Given the description of an element on the screen output the (x, y) to click on. 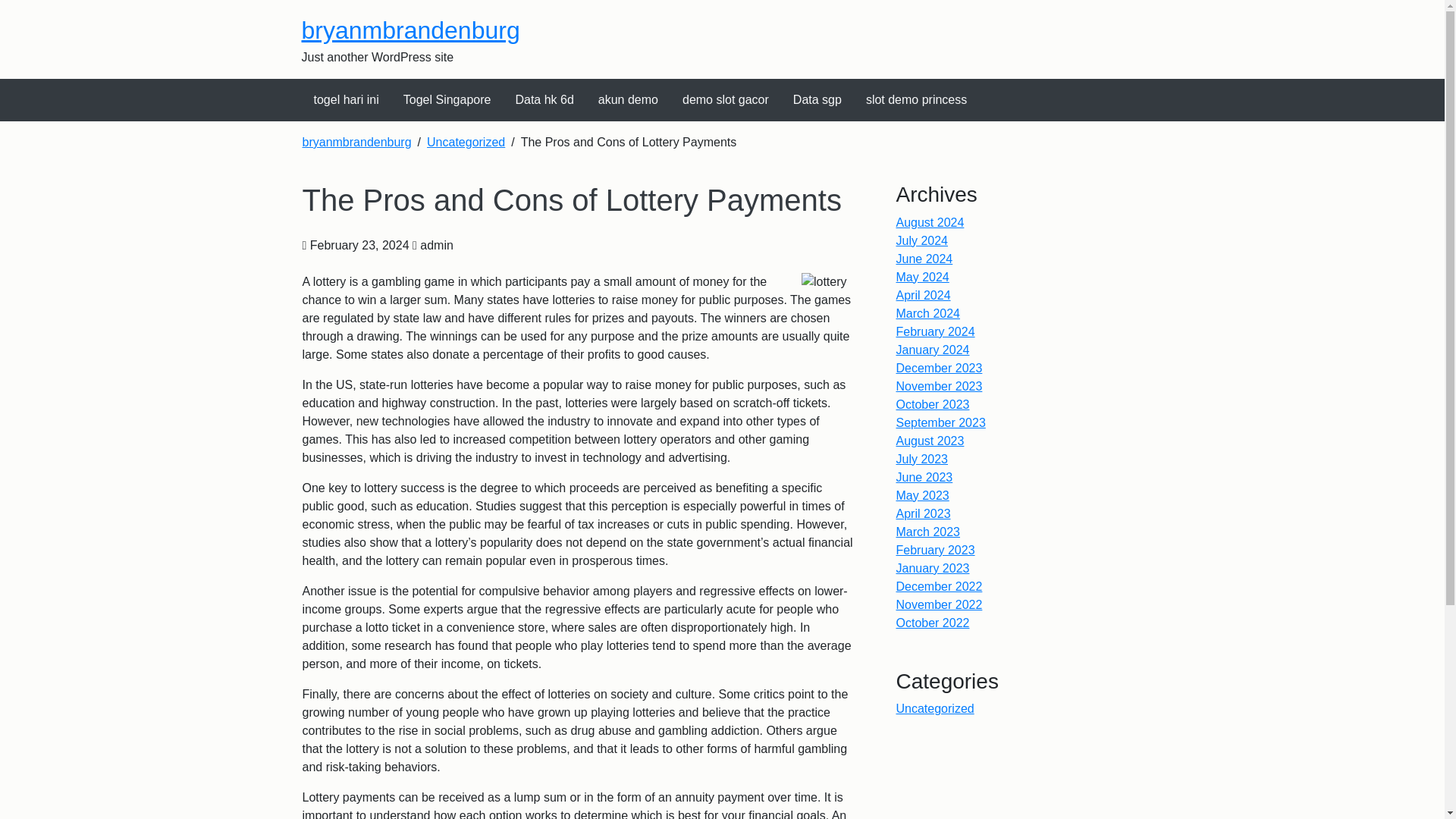
April 2023 (923, 513)
November 2023 (939, 386)
October 2022 (932, 622)
July 2024 (922, 240)
May 2024 (922, 277)
May 2023 (922, 495)
demo slot gacor (724, 99)
togel hari ini (346, 99)
February 2024 (935, 331)
December 2023 (939, 367)
akun demo (627, 99)
July 2023 (922, 459)
Data sgp (816, 99)
demo slot gacor (724, 99)
March 2023 (928, 531)
